Given the description of an element on the screen output the (x, y) to click on. 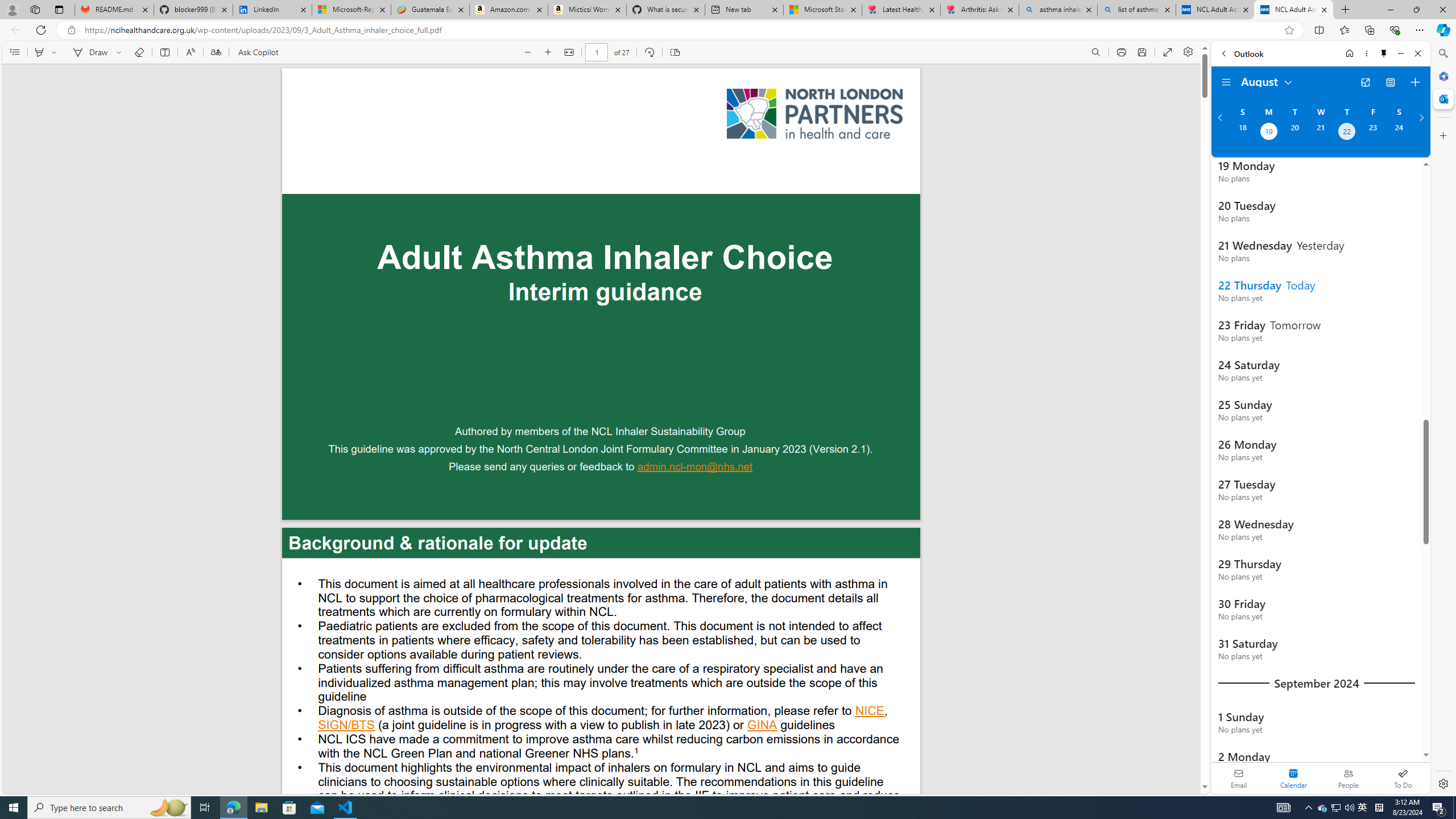
Page number (596, 52)
Enter PDF full screen (1167, 52)
Find (Ctrl + F) (1096, 52)
GINA  (761, 726)
admin.ncl-mon@nhs.net (694, 467)
LinkedIn (272, 9)
